Given the description of an element on the screen output the (x, y) to click on. 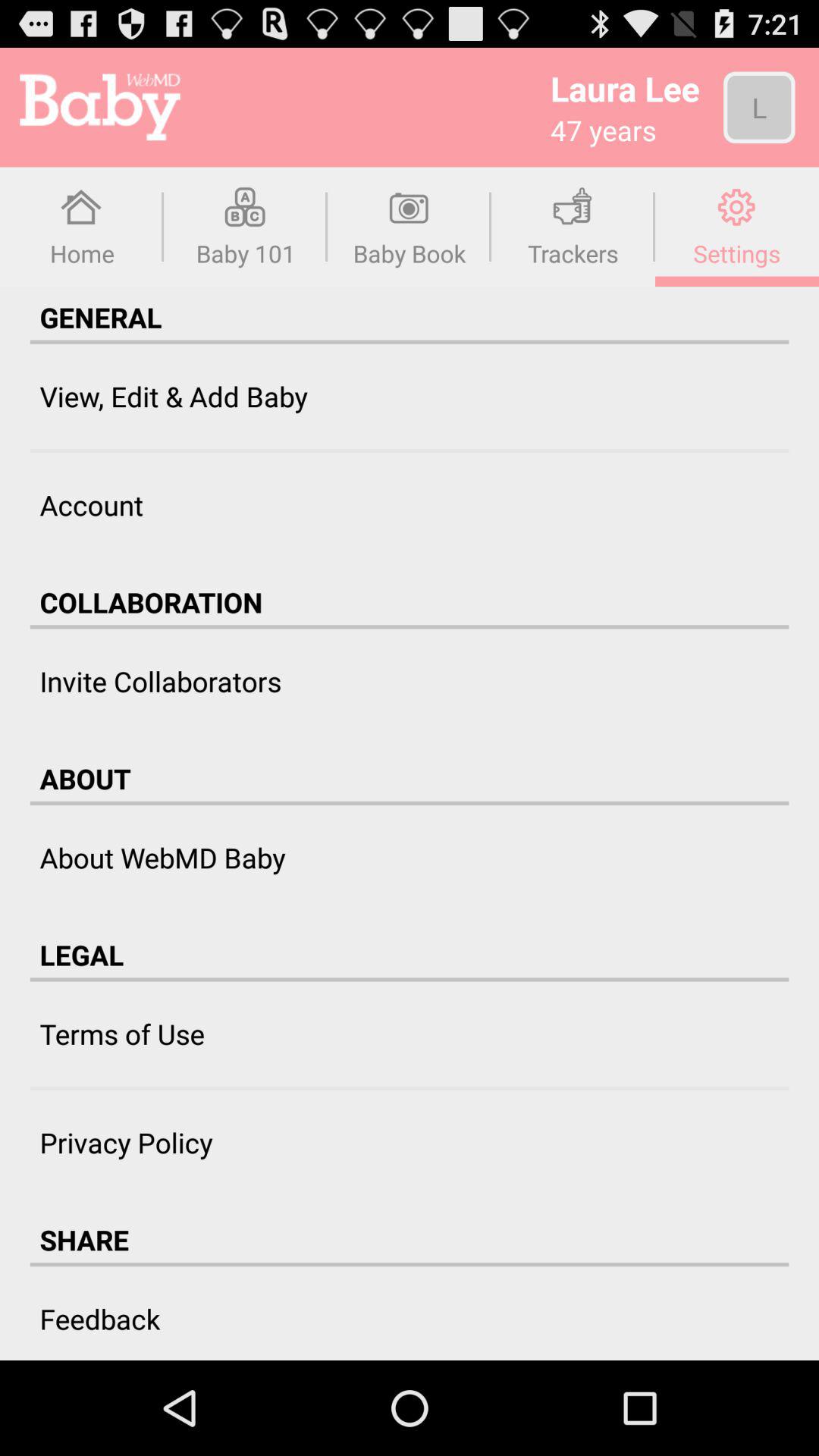
tap the icon above the feedback (409, 1264)
